Given the description of an element on the screen output the (x, y) to click on. 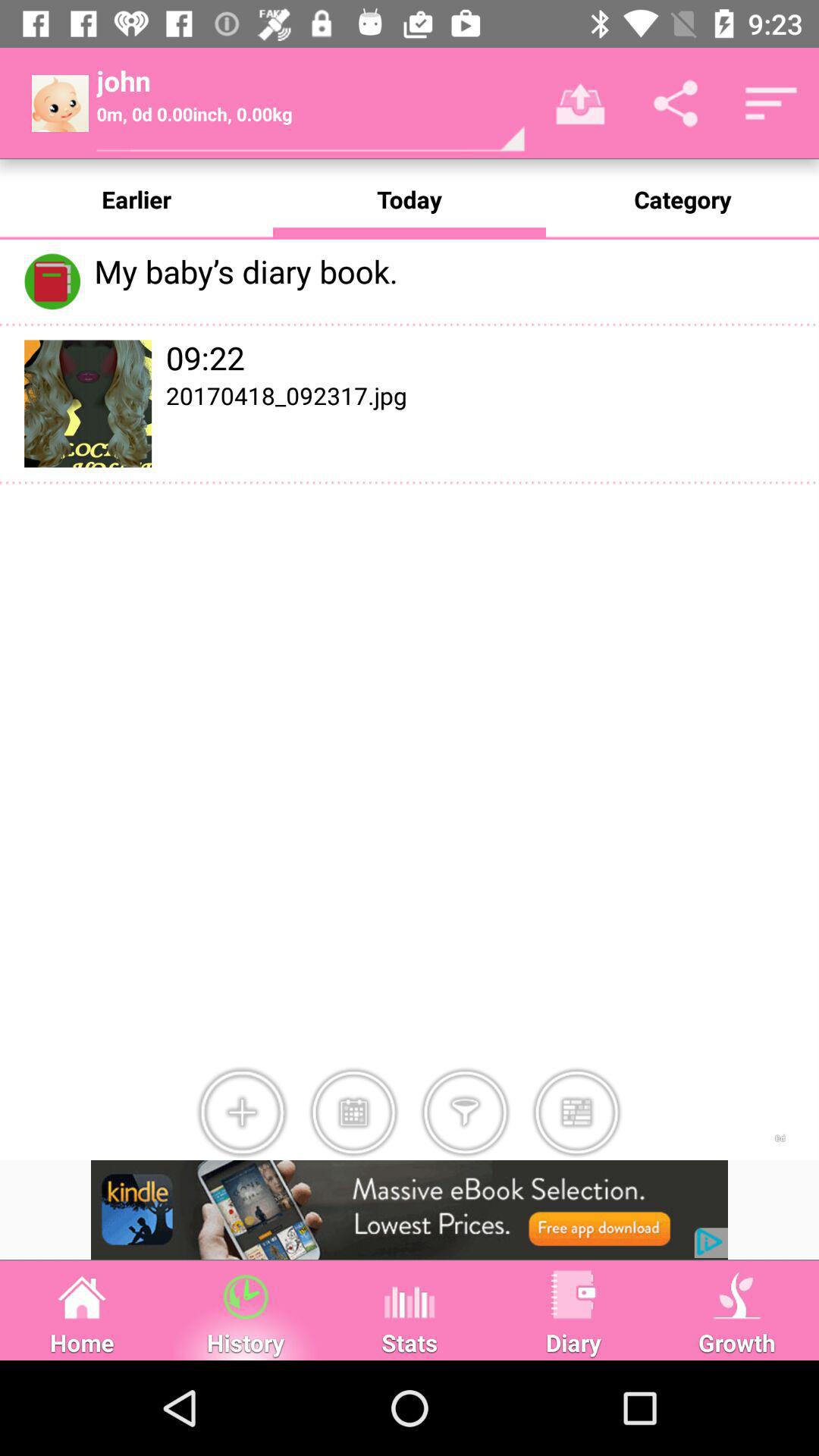
save option (353, 1112)
